Given the description of an element on the screen output the (x, y) to click on. 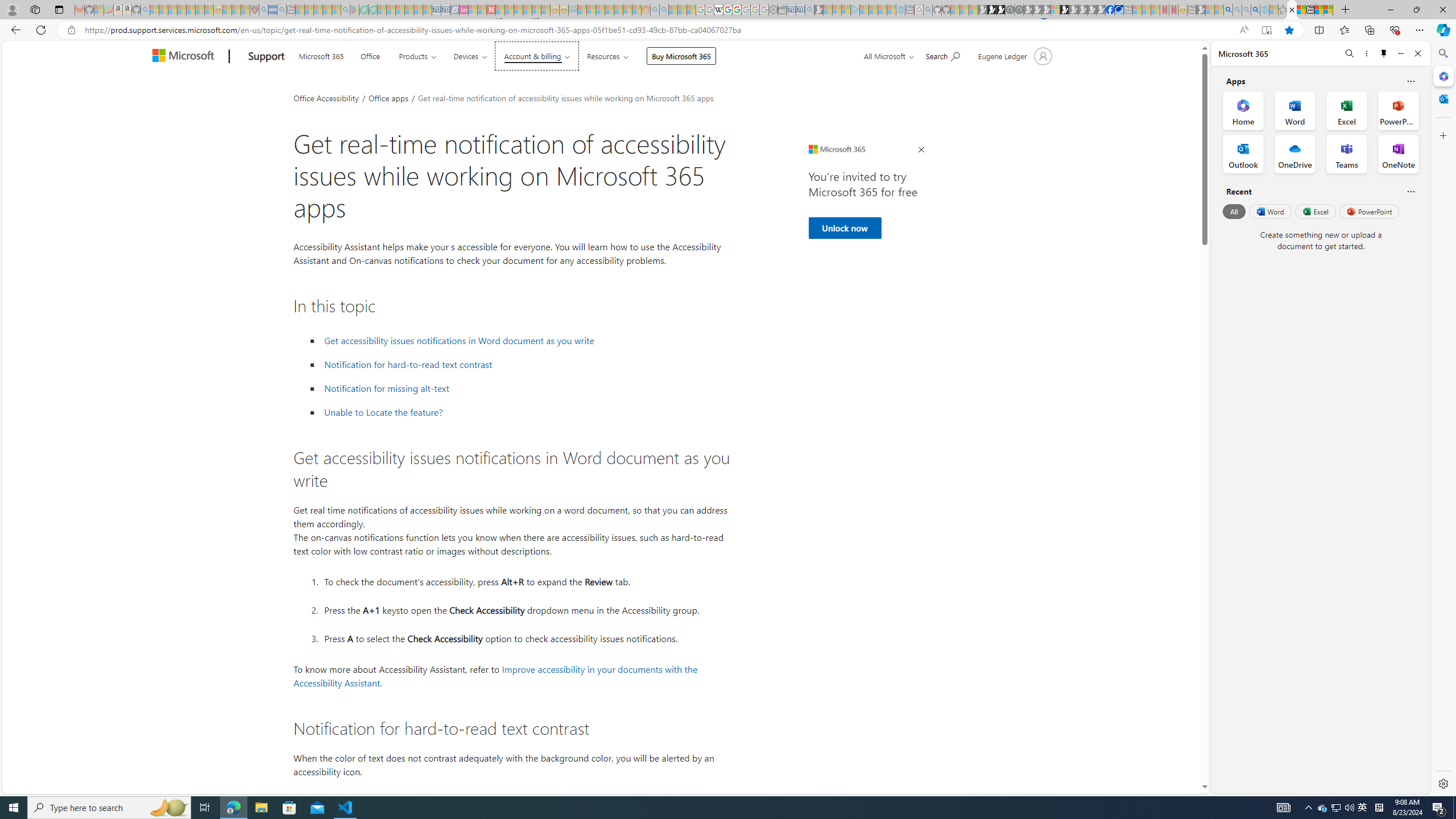
Side bar (1443, 418)
Teams Office App (1346, 154)
Outlook Office App (1243, 154)
New Report Confirms 2023 Was Record Hot | Watch - Sleeping (191, 9)
Unlock now (844, 228)
 Notification for missing alt-text (386, 388)
